Given the description of an element on the screen output the (x, y) to click on. 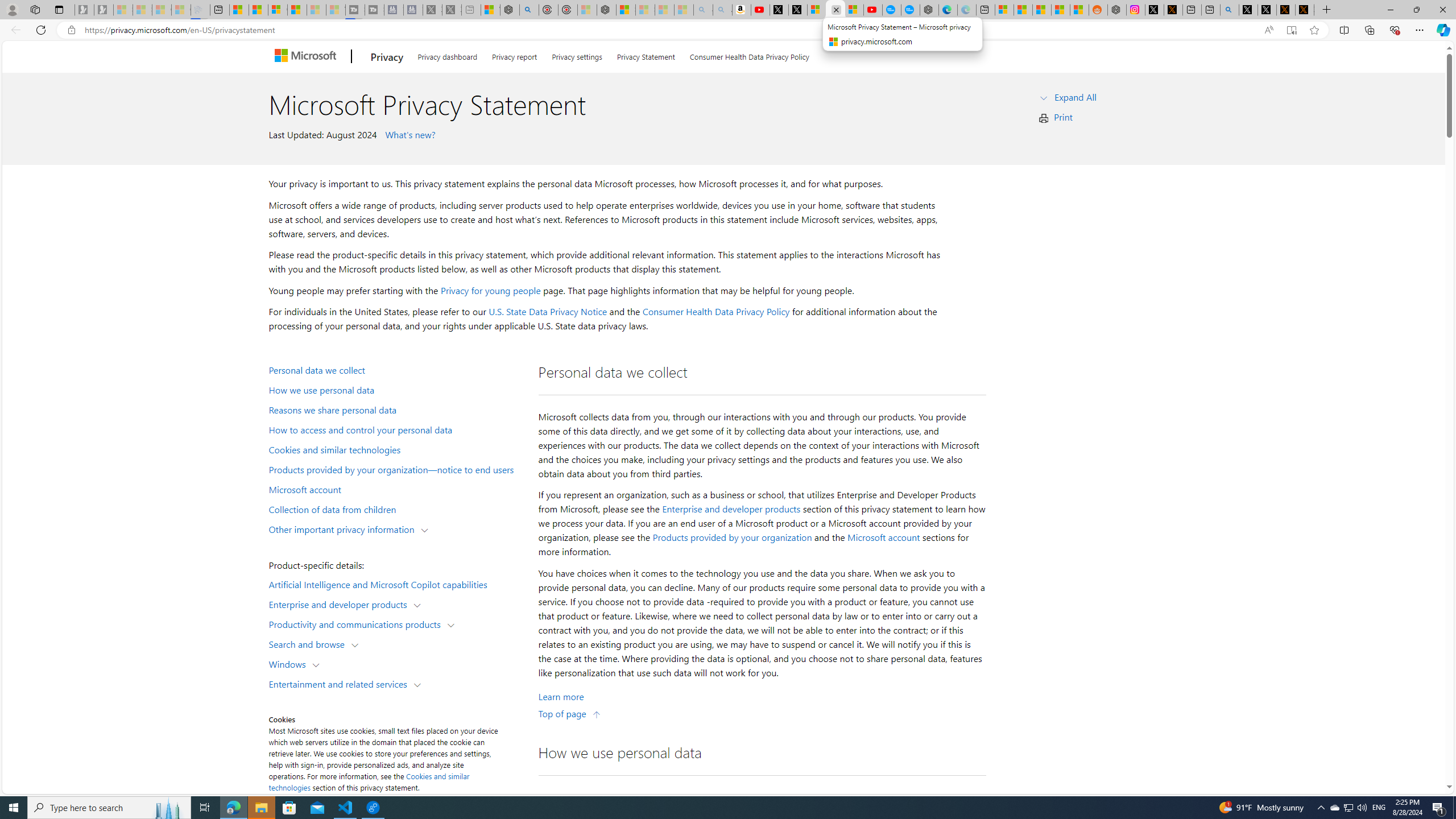
Opinion: Op-Ed and Commentary - USA TODAY (891, 9)
Collection of data from children (395, 508)
Microsoft account (883, 537)
 What's new? (408, 133)
Personal data we collect (395, 368)
